Given the description of an element on the screen output the (x, y) to click on. 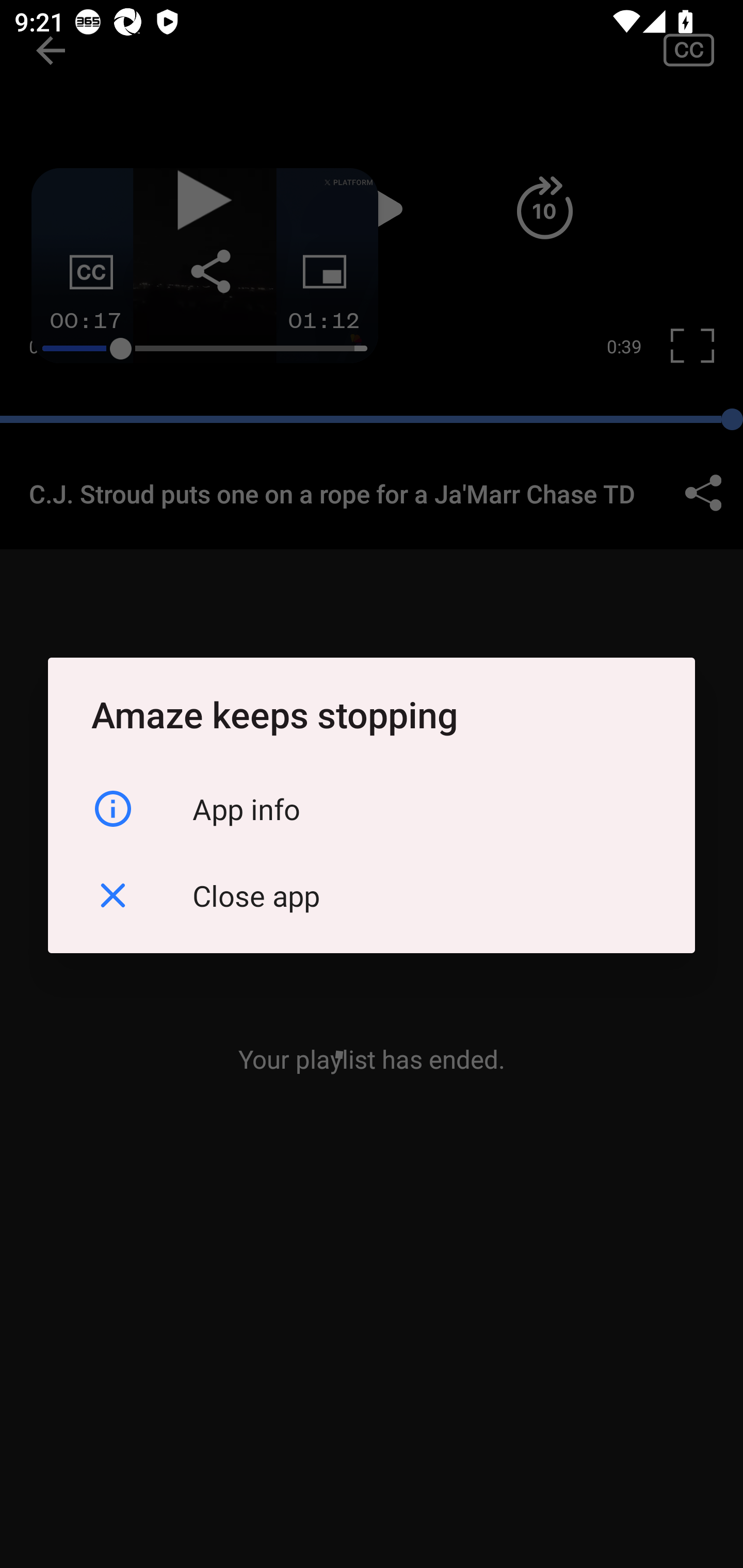
App info (371, 808)
Close app (371, 895)
